Given the description of an element on the screen output the (x, y) to click on. 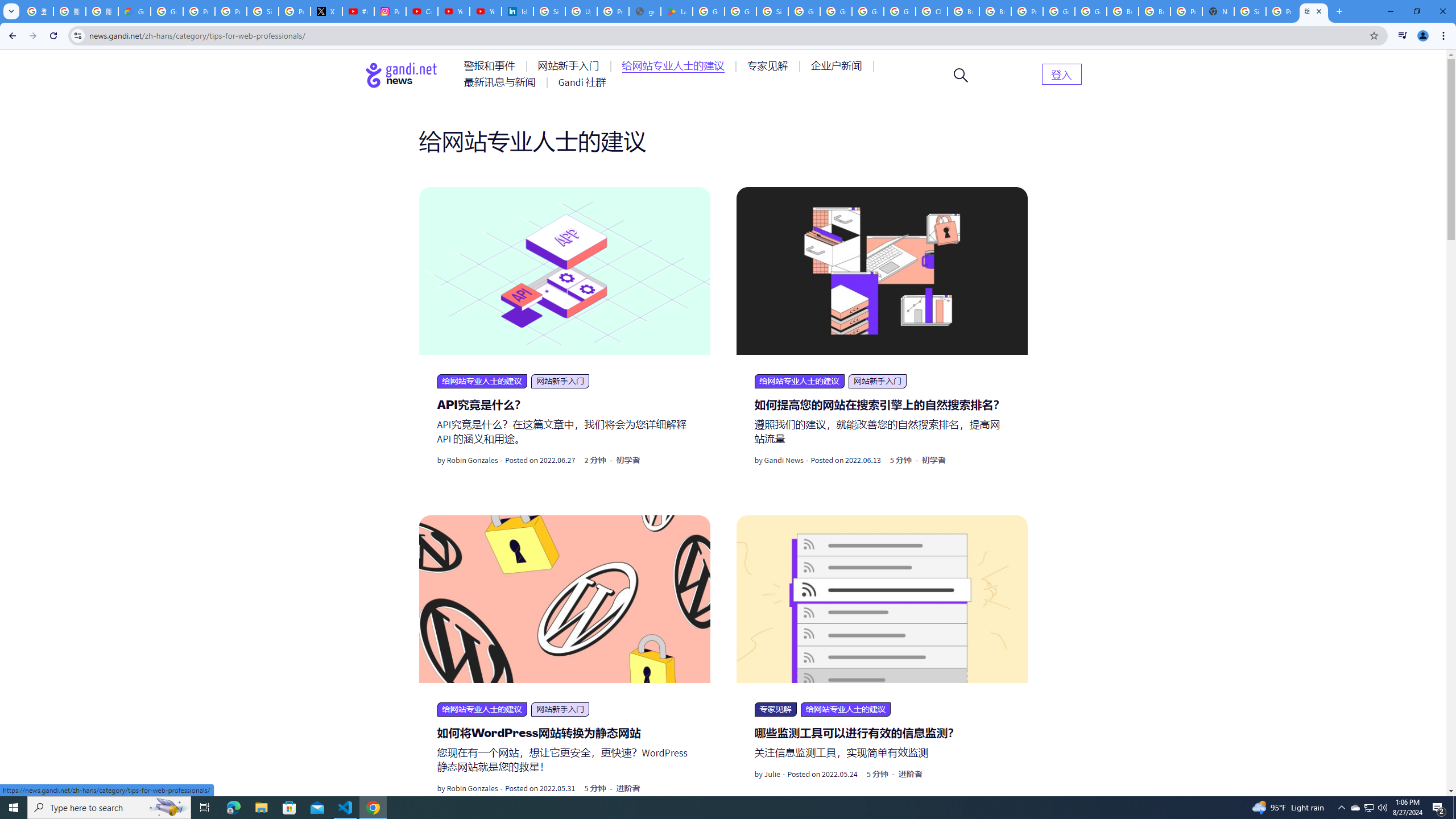
AutomationID: menu-item-77762 (570, 65)
AutomationID: menu-item-77763 (674, 65)
AutomationID: menu-item-77766 (502, 82)
YouTube Culture & Trends - YouTube Top 10, 2021 (485, 11)
Google Cloud Platform (1059, 11)
